Given the description of an element on the screen output the (x, y) to click on. 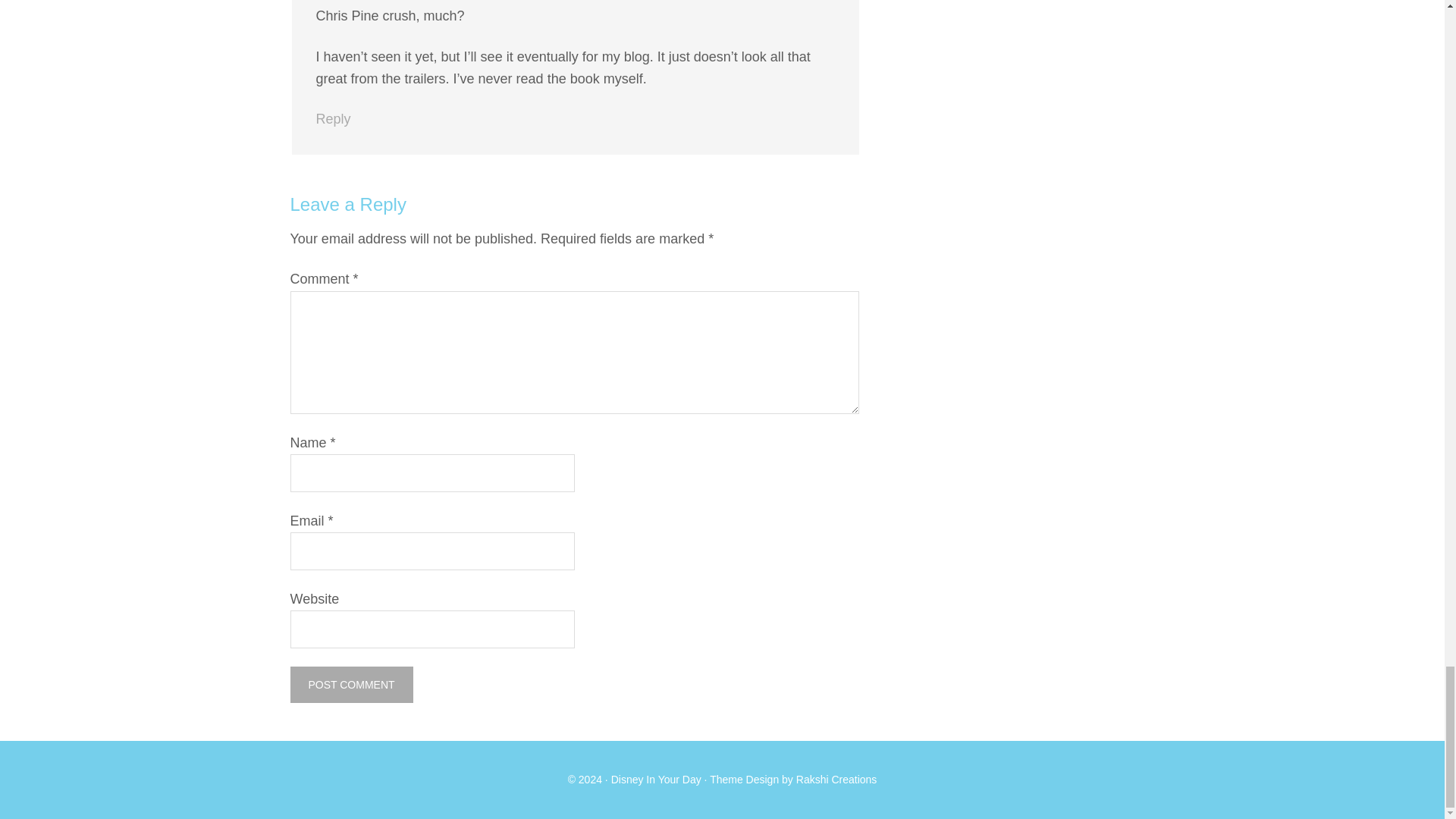
Reply (332, 118)
Post Comment (350, 684)
Rakshi Creations (836, 779)
Rakshi Creations (836, 779)
Post Comment (350, 684)
Disney In Your Day (656, 779)
